Given the description of an element on the screen output the (x, y) to click on. 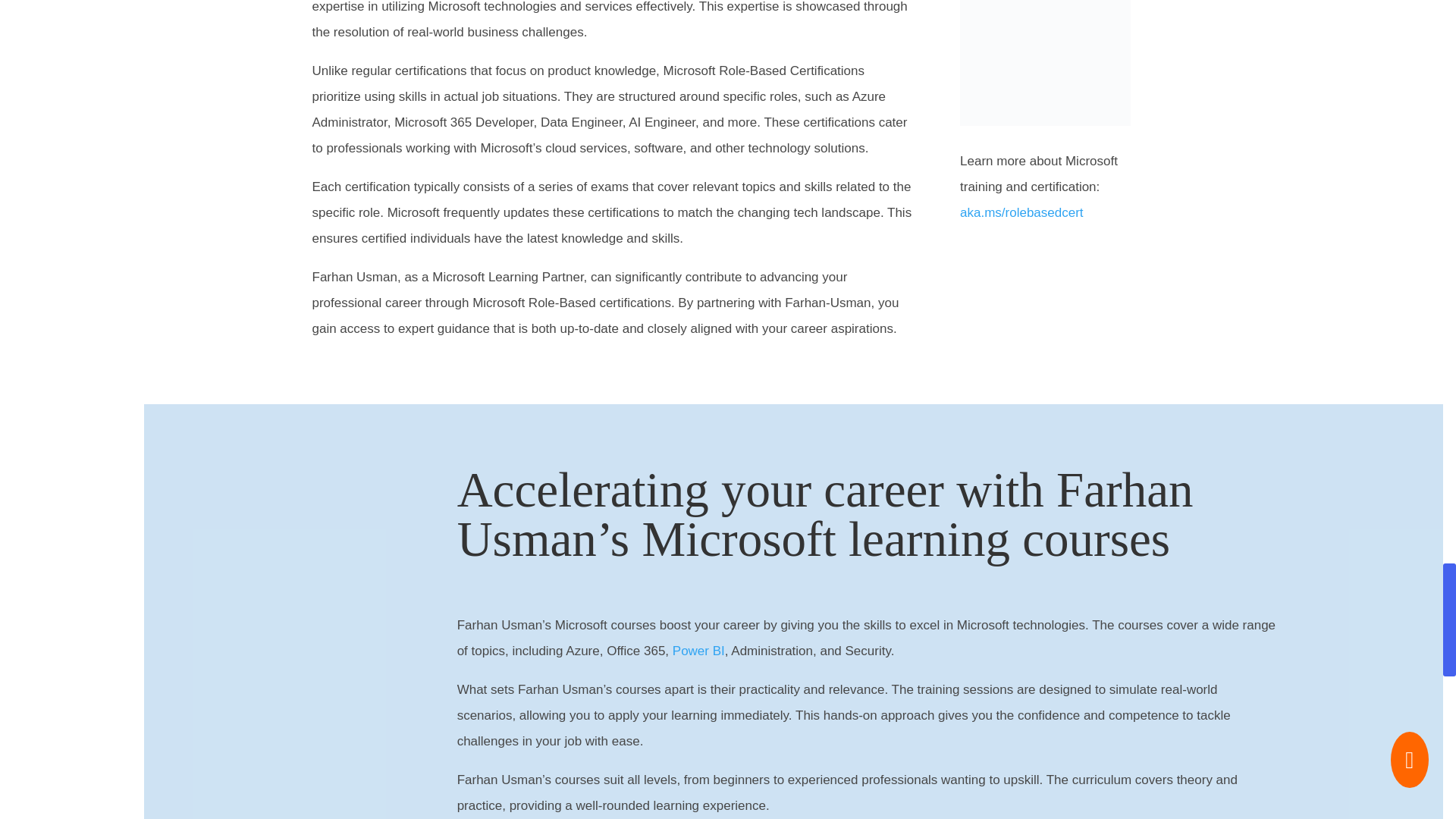
Power BI (698, 650)
Power BI (698, 650)
